Given the description of an element on the screen output the (x, y) to click on. 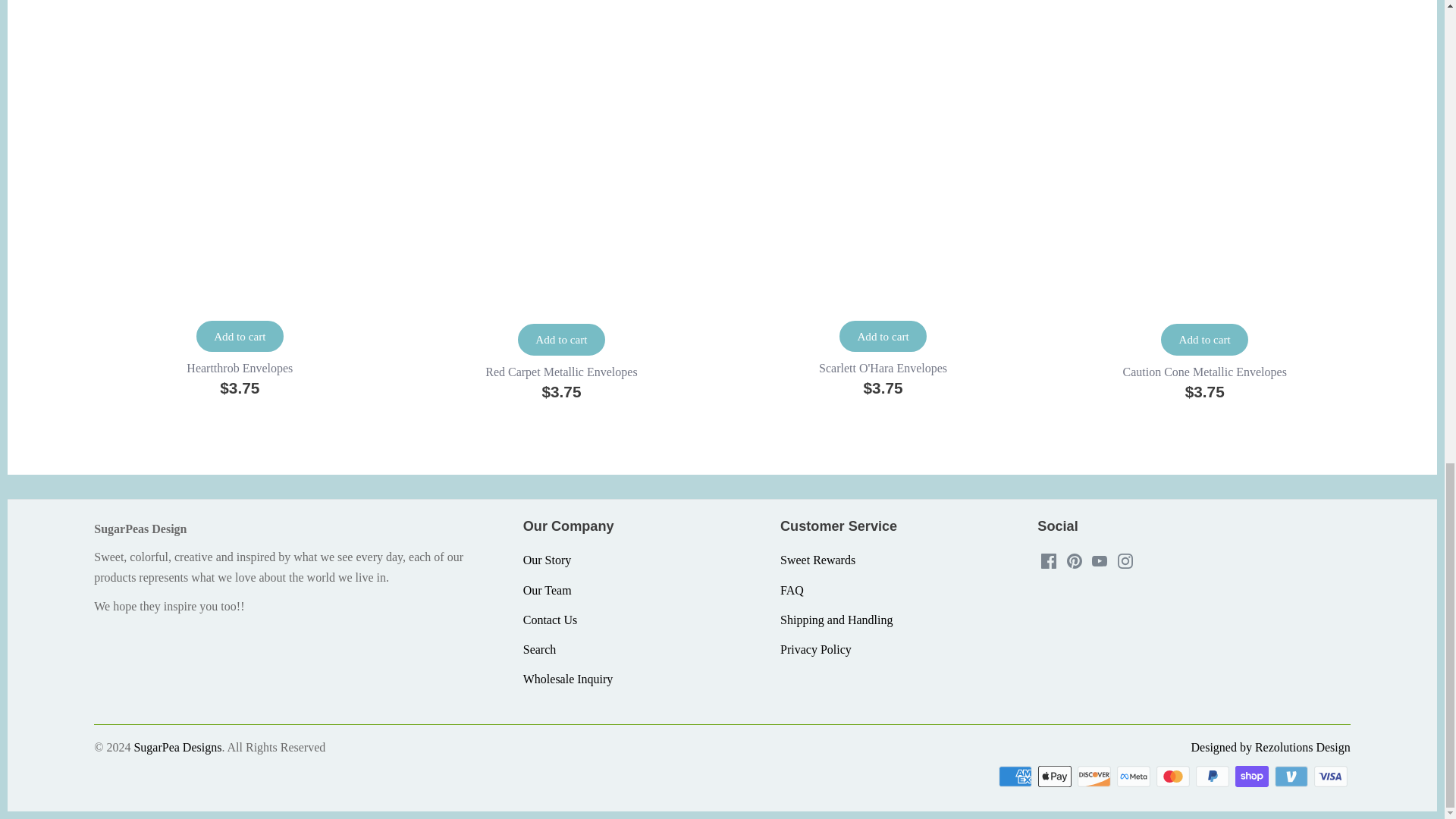
Facebook (1049, 560)
Pinterest (1074, 560)
Instagram (1125, 560)
Youtube (1099, 560)
